Given the description of an element on the screen output the (x, y) to click on. 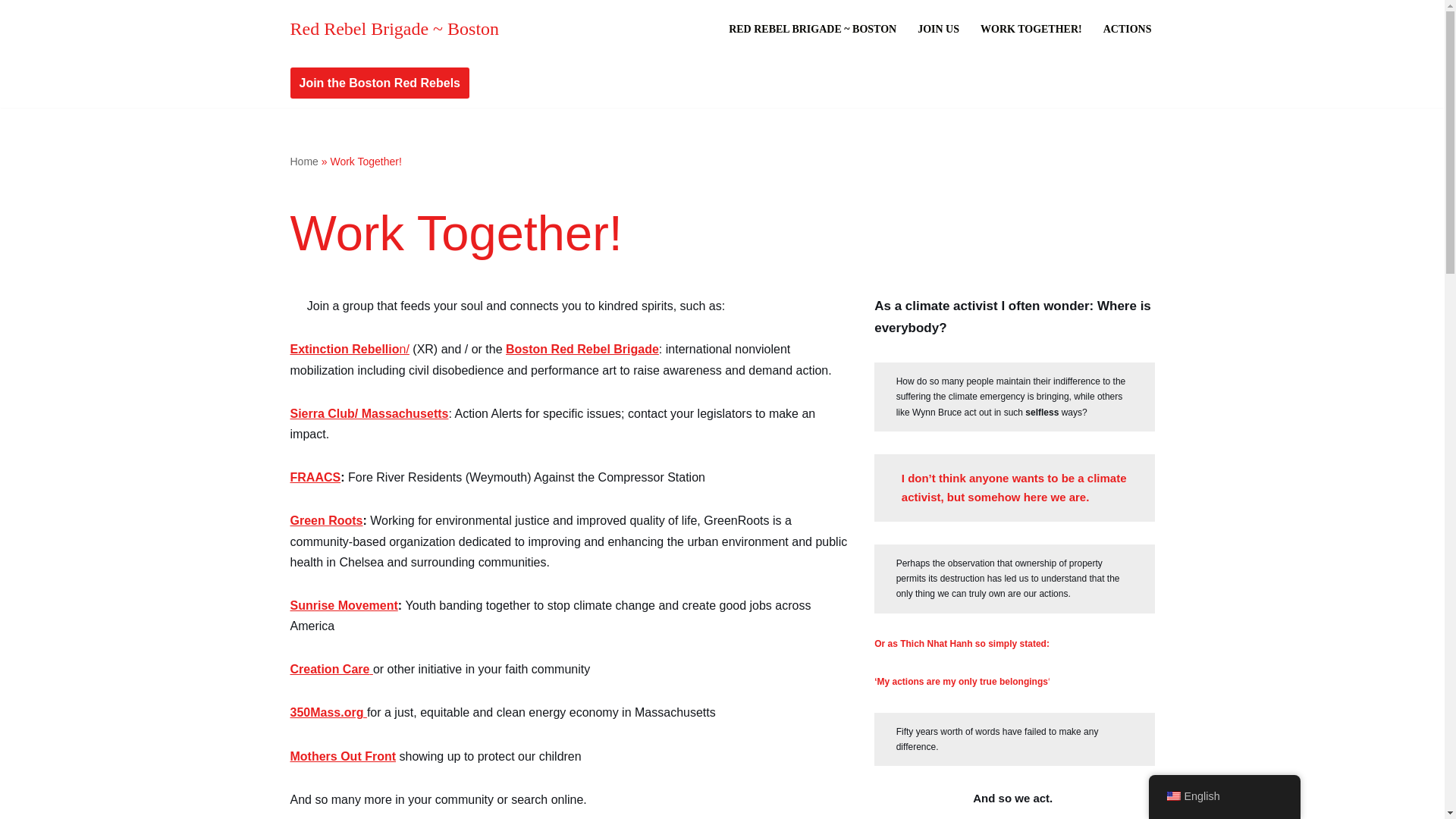
350Mass.org (327, 712)
FRAACS (314, 477)
Mothers Out Front (342, 756)
Boston Red Rebel Brigade (582, 349)
WORK TOGETHER! (1030, 28)
English (1172, 795)
Extinction Rebellio (343, 349)
English (1224, 796)
Skip to content (11, 31)
Sunrise Movement (343, 604)
Creation Care (330, 668)
ACTIONS (1127, 28)
Join the Boston Red Rebels (378, 83)
JOIN US (938, 28)
Green Roots (325, 520)
